Given the description of an element on the screen output the (x, y) to click on. 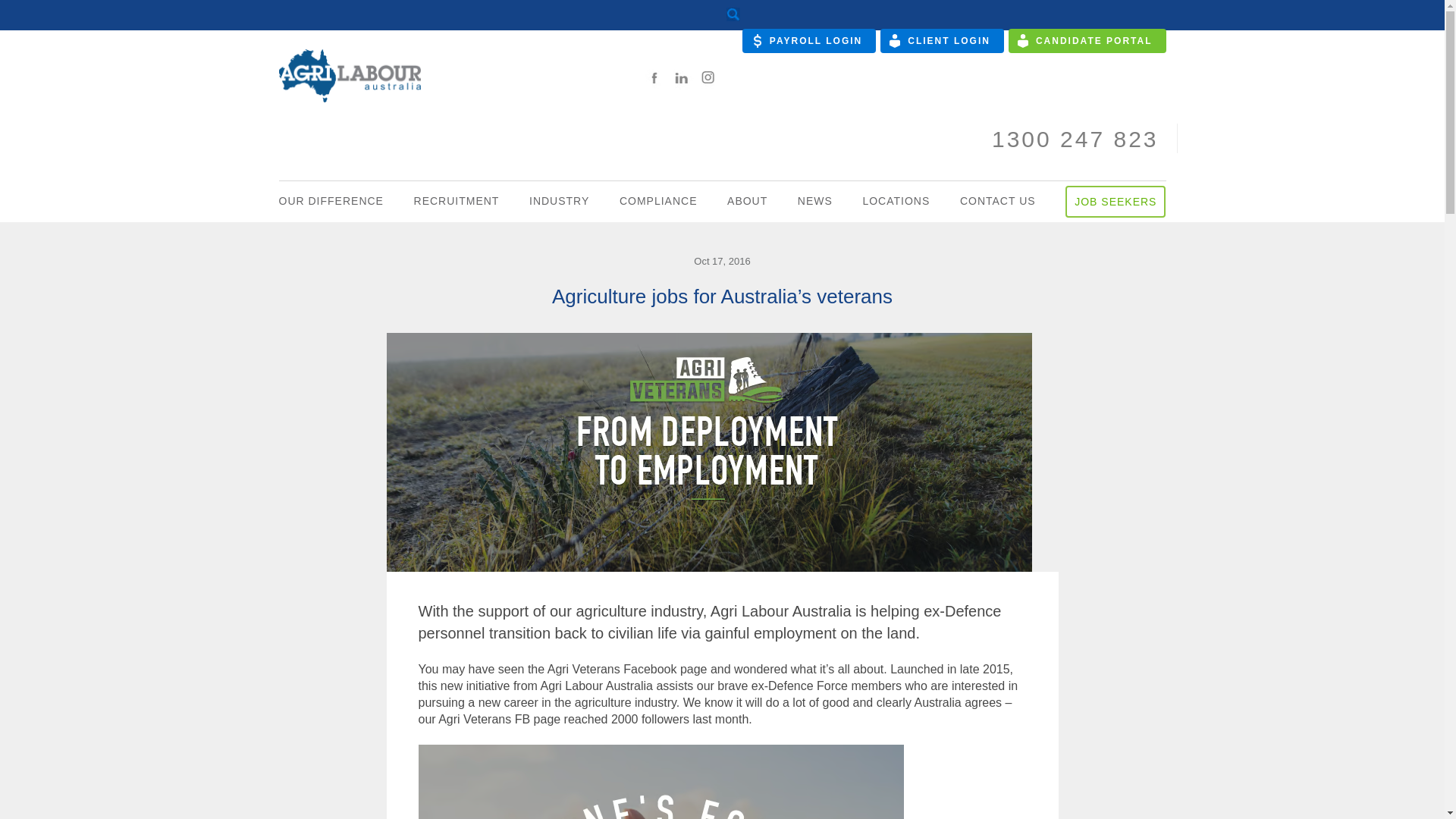
RECRUITMENT (456, 200)
CANDIDATE PORTAL (1087, 40)
CLIENT LOGIN (942, 40)
OUR DIFFERENCE (331, 200)
1300 247 823 (1074, 138)
COMPLIANCE (658, 200)
INDUSTRY (559, 200)
PAYROLL LOGIN (809, 40)
